Given the description of an element on the screen output the (x, y) to click on. 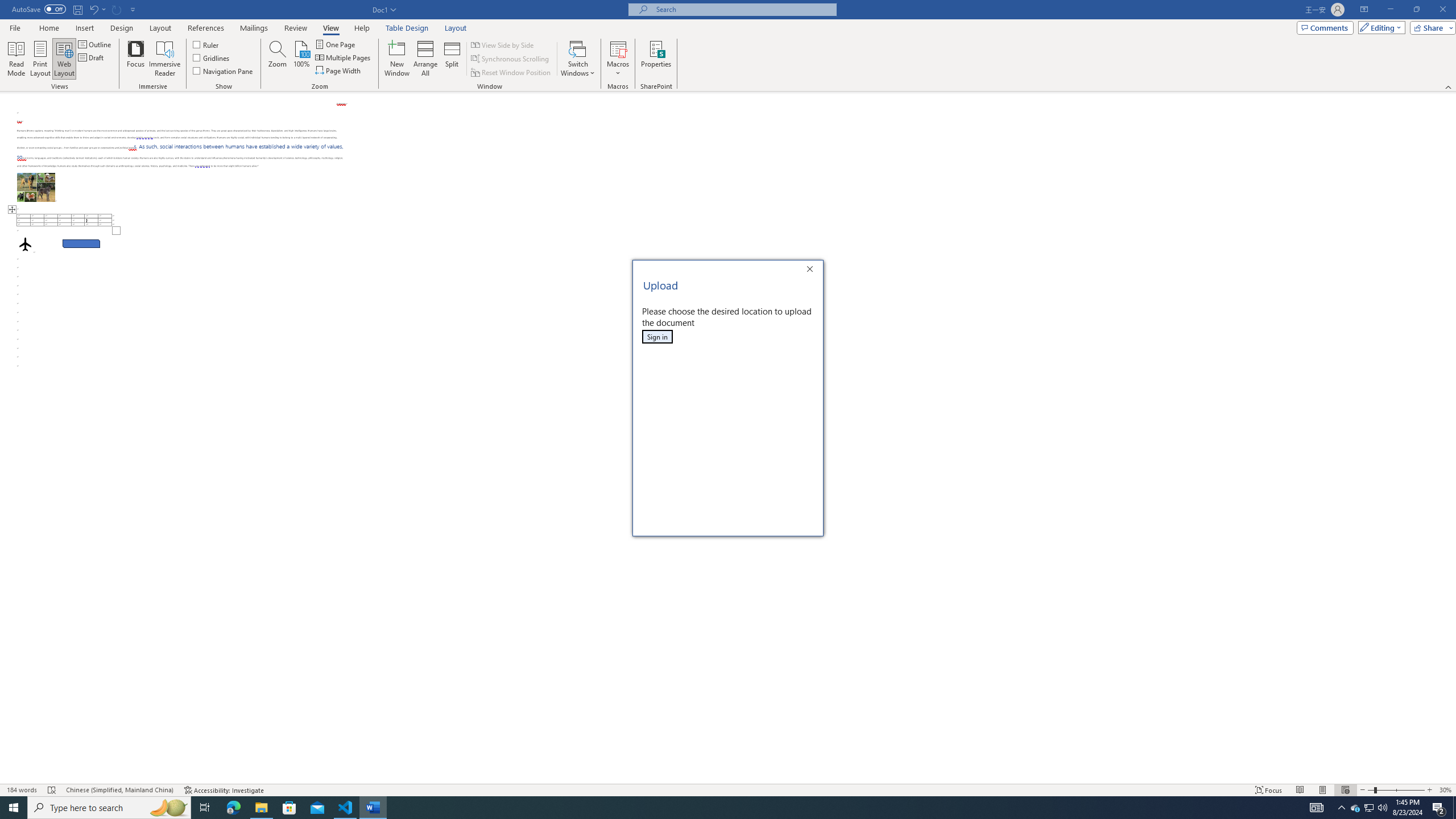
View Macros (617, 48)
Home (48, 28)
Class: MsoCommandBar (728, 45)
File Tab (15, 27)
Undo Row Height Spinner (96, 9)
Zoom 30% (1445, 790)
Insert (83, 28)
Comments (1325, 27)
Split (451, 58)
Quick Access Toolbar (74, 9)
Web Layout (63, 58)
Multiple Pages (343, 56)
Sign in (657, 336)
AutoSave (38, 9)
